Given the description of an element on the screen output the (x, y) to click on. 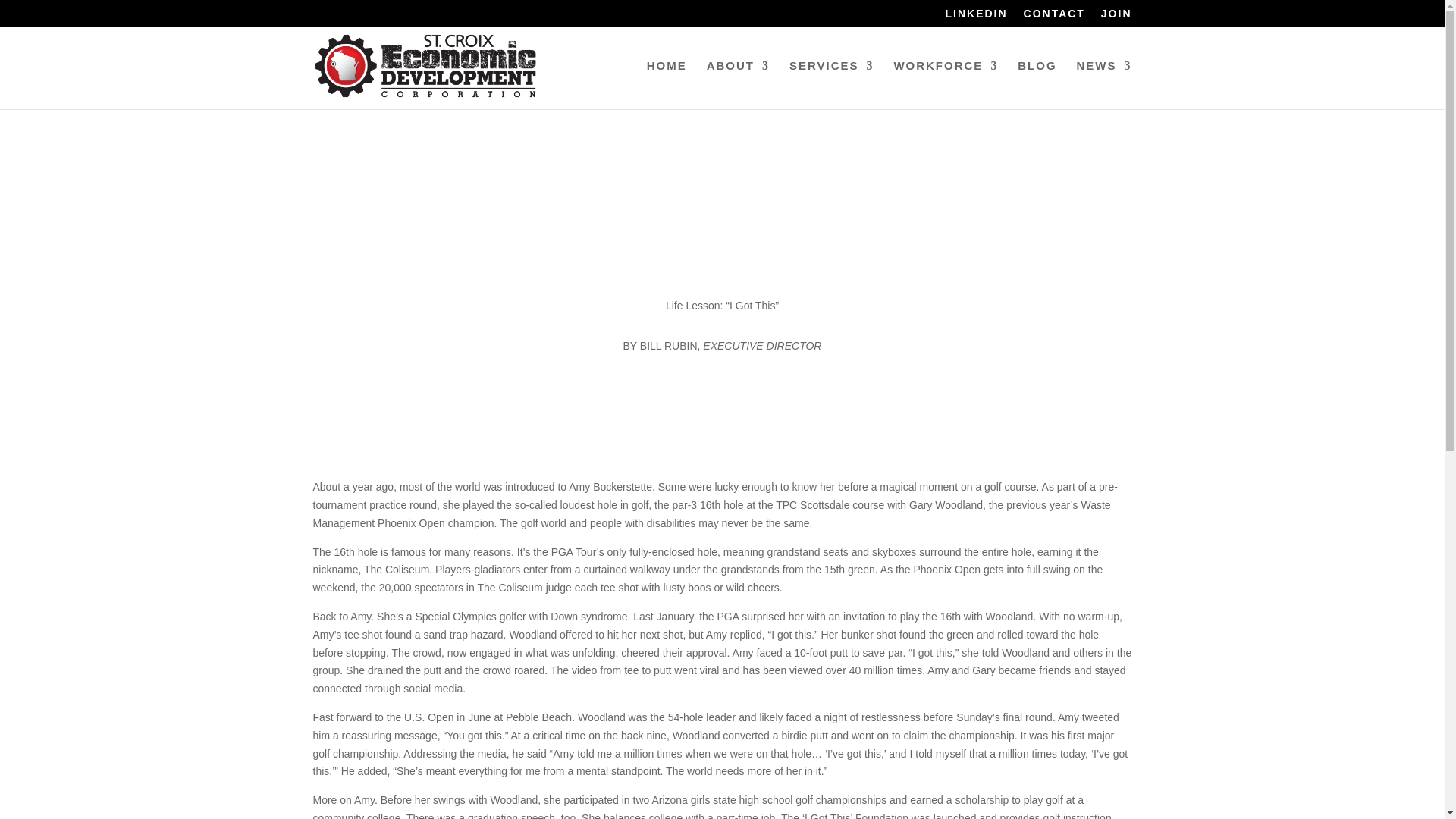
SERVICES (832, 84)
ABOUT (738, 84)
LINKEDIN (975, 16)
CONTACT (1053, 16)
JOIN (1116, 16)
WORKFORCE (945, 84)
NEWS (1104, 84)
